Given the description of an element on the screen output the (x, y) to click on. 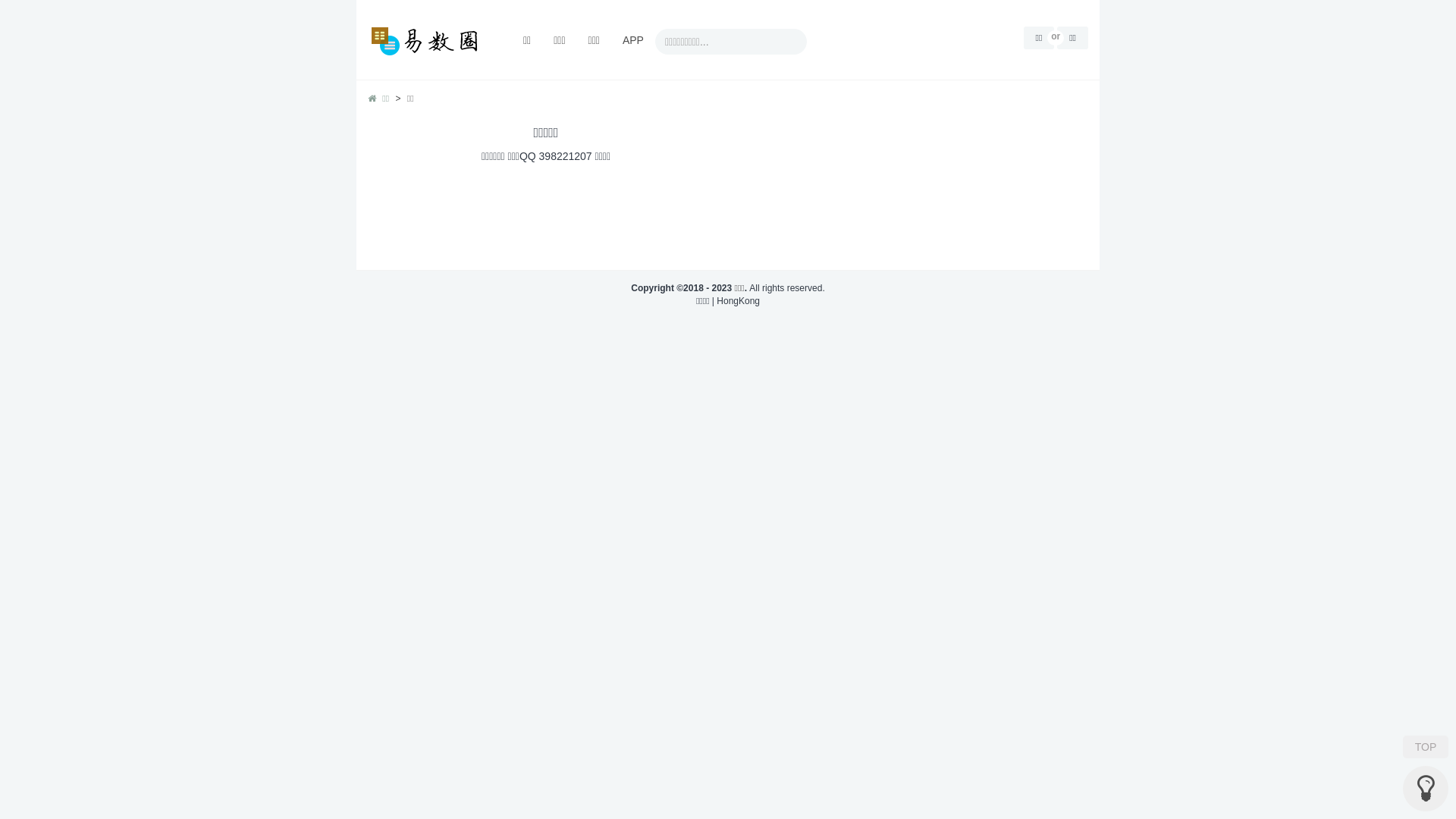
TOP Element type: text (1425, 746)
APP Element type: text (633, 39)
